Given the description of an element on the screen output the (x, y) to click on. 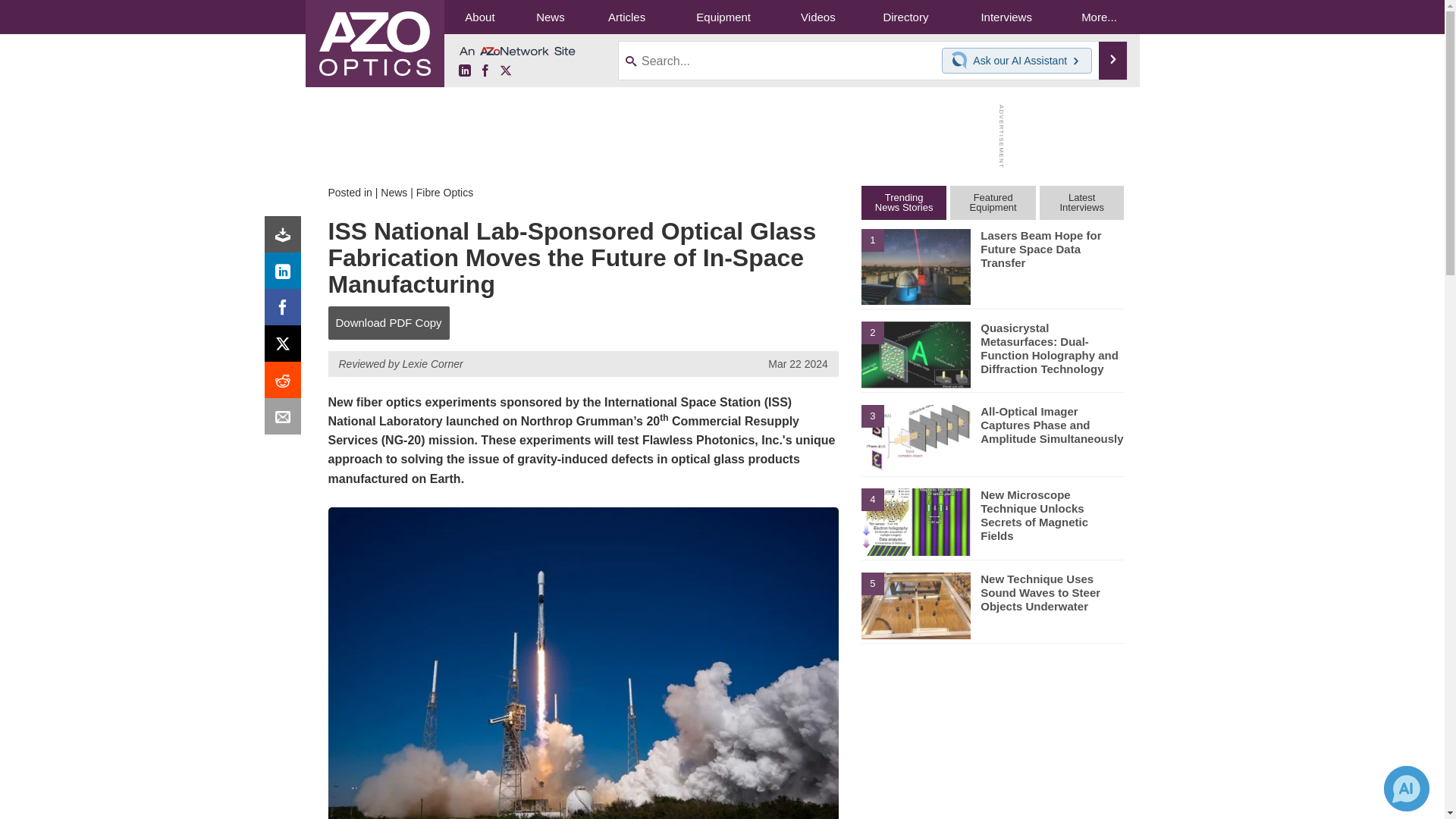
Interviews (1006, 17)
LinkedIn (285, 275)
News (550, 17)
Email (285, 420)
Articles (626, 17)
About (479, 17)
Videos (817, 17)
Chat with our AI Assistant (962, 60)
Chat with our AI Assistant Ask our AI Assistant (1017, 60)
News (393, 192)
More... (1098, 17)
X (285, 348)
Facebook (485, 71)
Fibre Optics (444, 192)
